Given the description of an element on the screen output the (x, y) to click on. 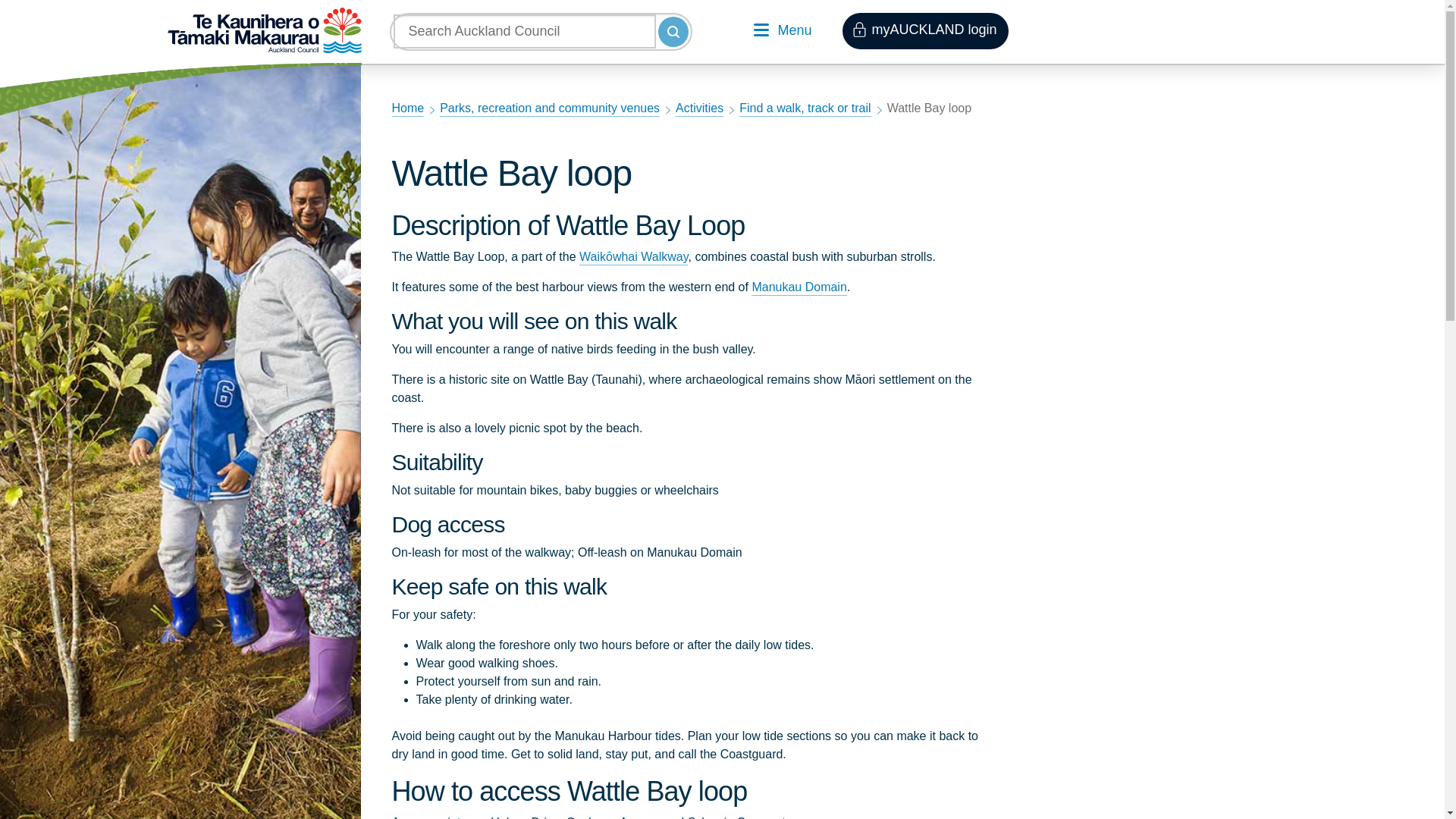
myAUCKLAND login (925, 30)
Parks, recreation and community venues (549, 109)
Auckland Council (264, 30)
Find things to do outdoors in Auckland. (699, 109)
Home (407, 109)
Menu (783, 31)
Search (673, 31)
Auckland Council (264, 30)
